Given the description of an element on the screen output the (x, y) to click on. 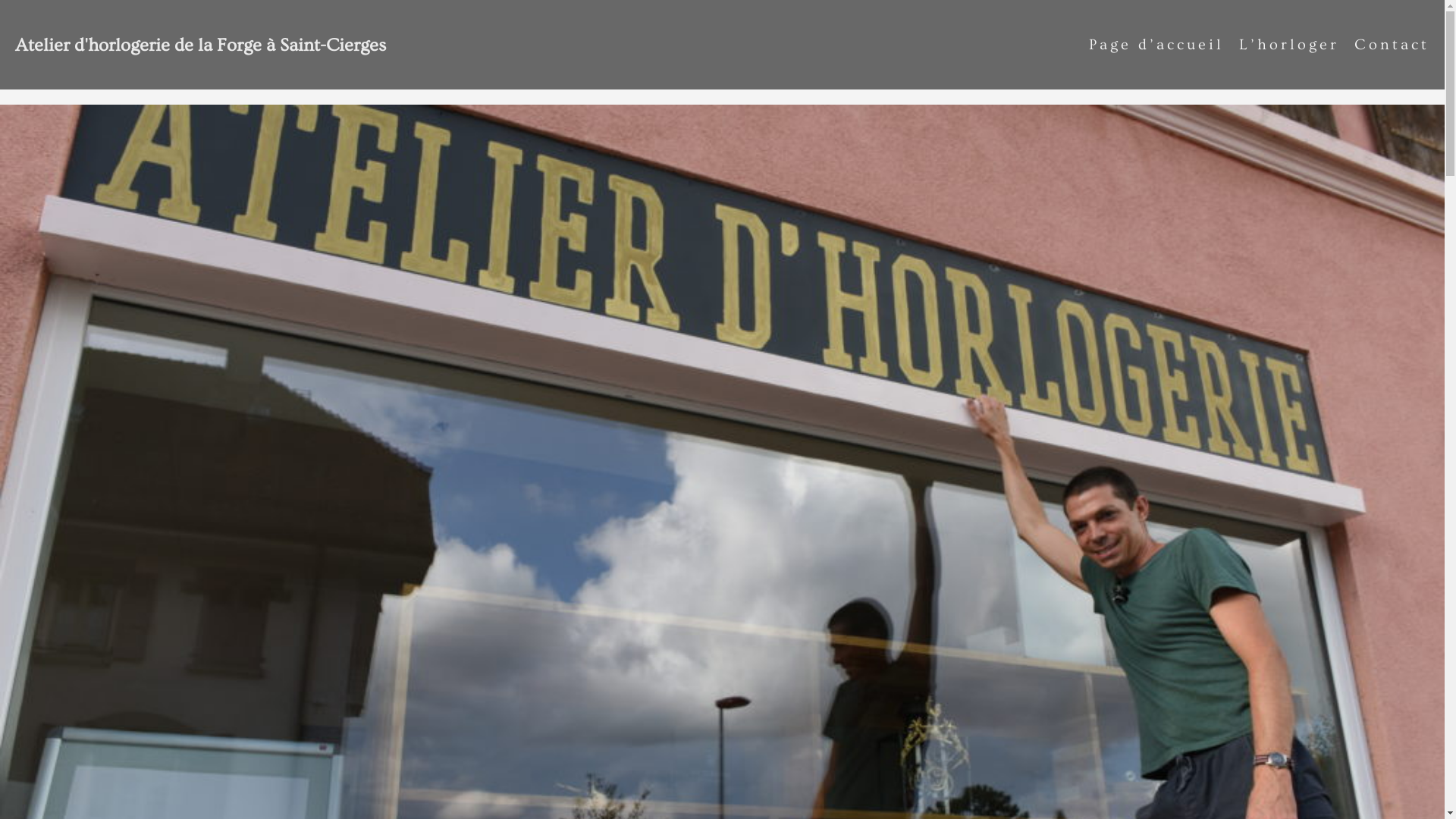
Contact Element type: text (1391, 44)
